Given the description of an element on the screen output the (x, y) to click on. 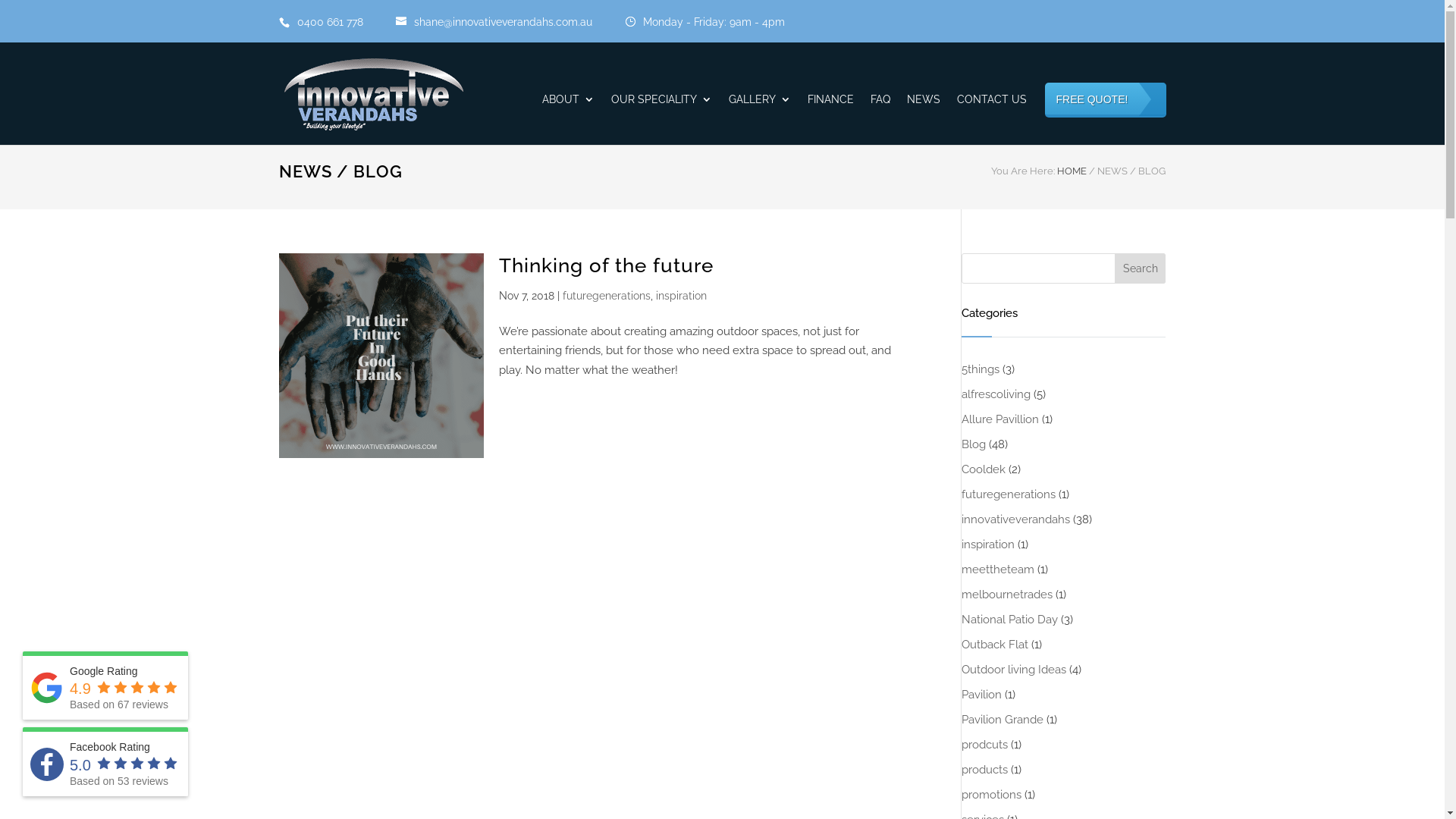
Outdoor living Ideas Element type: text (1013, 669)
Search Element type: text (1140, 268)
alfrescoliving Element type: text (995, 394)
prodcuts Element type: text (984, 744)
Blog Element type: text (973, 444)
HOME Element type: text (1071, 170)
Pavilion Element type: text (981, 694)
innovativeverandahs Element type: text (1015, 519)
National Patio Day Element type: text (1009, 619)
NEWS Element type: text (923, 119)
inspiration Element type: text (987, 544)
Thinking of the future Element type: text (605, 265)
inspiration Element type: text (680, 295)
Cooldek Element type: text (983, 469)
meettheteam Element type: text (997, 569)
melbournetrades Element type: text (1006, 594)
FINANCE Element type: text (829, 119)
Pavilion Grande Element type: text (1002, 719)
shane@innovativeverandahs.com.au Element type: text (508, 21)
promotions Element type: text (991, 794)
FREE QUOTE! Element type: text (1105, 113)
ABOUT Element type: text (567, 119)
5things Element type: text (980, 369)
GALLERY Element type: text (759, 119)
futuregenerations Element type: text (606, 295)
products Element type: text (984, 769)
OUR SPECIALITY Element type: text (661, 119)
FAQ Element type: text (880, 119)
Outback Flat Element type: text (994, 644)
futuregenerations Element type: text (1008, 494)
CONTACT US Element type: text (991, 119)
Allure Pavillion Element type: text (999, 419)
